Given the description of an element on the screen output the (x, y) to click on. 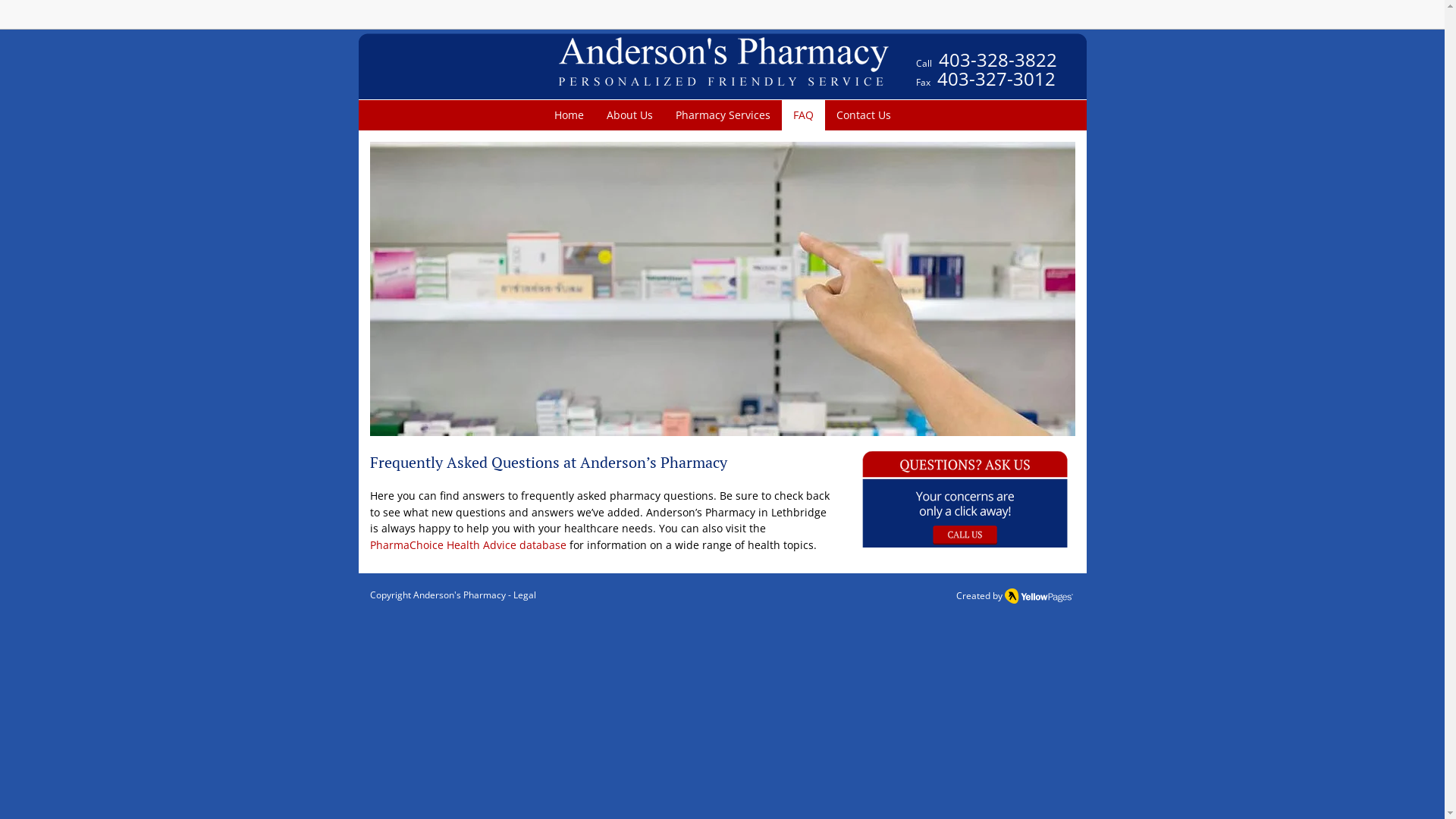
Legal Element type: text (523, 594)
Home Element type: text (568, 115)
Embedded Content Element type: hover (944, 22)
Anderson's Pharmacy Element type: text (458, 594)
Embedded Content Element type: hover (1069, 19)
Pharmacy Services Element type: text (722, 115)
FAQ Element type: text (802, 115)
About Us Element type: text (628, 115)
403-328-3822 Element type: text (997, 62)
403-327-3012 Element type: text (996, 78)
PharmaChoice Health Advice database Element type: text (468, 544)
Contact Us Element type: text (863, 115)
